Given the description of an element on the screen output the (x, y) to click on. 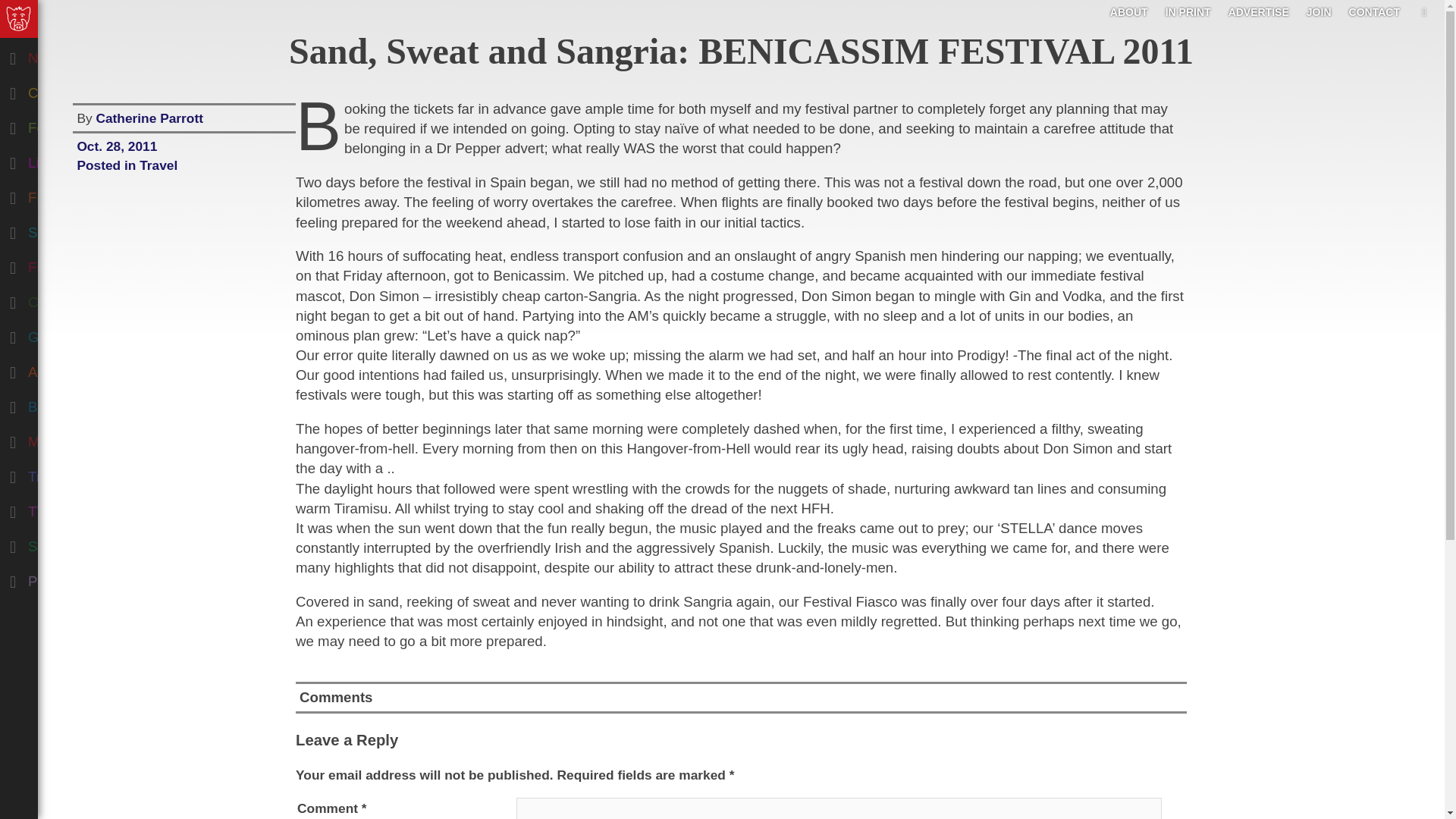
ABOUT (1128, 11)
Posted in (108, 165)
Oct. 28, 2011 (183, 144)
ADVERTISE (1258, 11)
Music (79, 438)
JOIN (1319, 11)
Climate (79, 298)
Books (79, 403)
Features (79, 124)
Travel (79, 473)
